Given the description of an element on the screen output the (x, y) to click on. 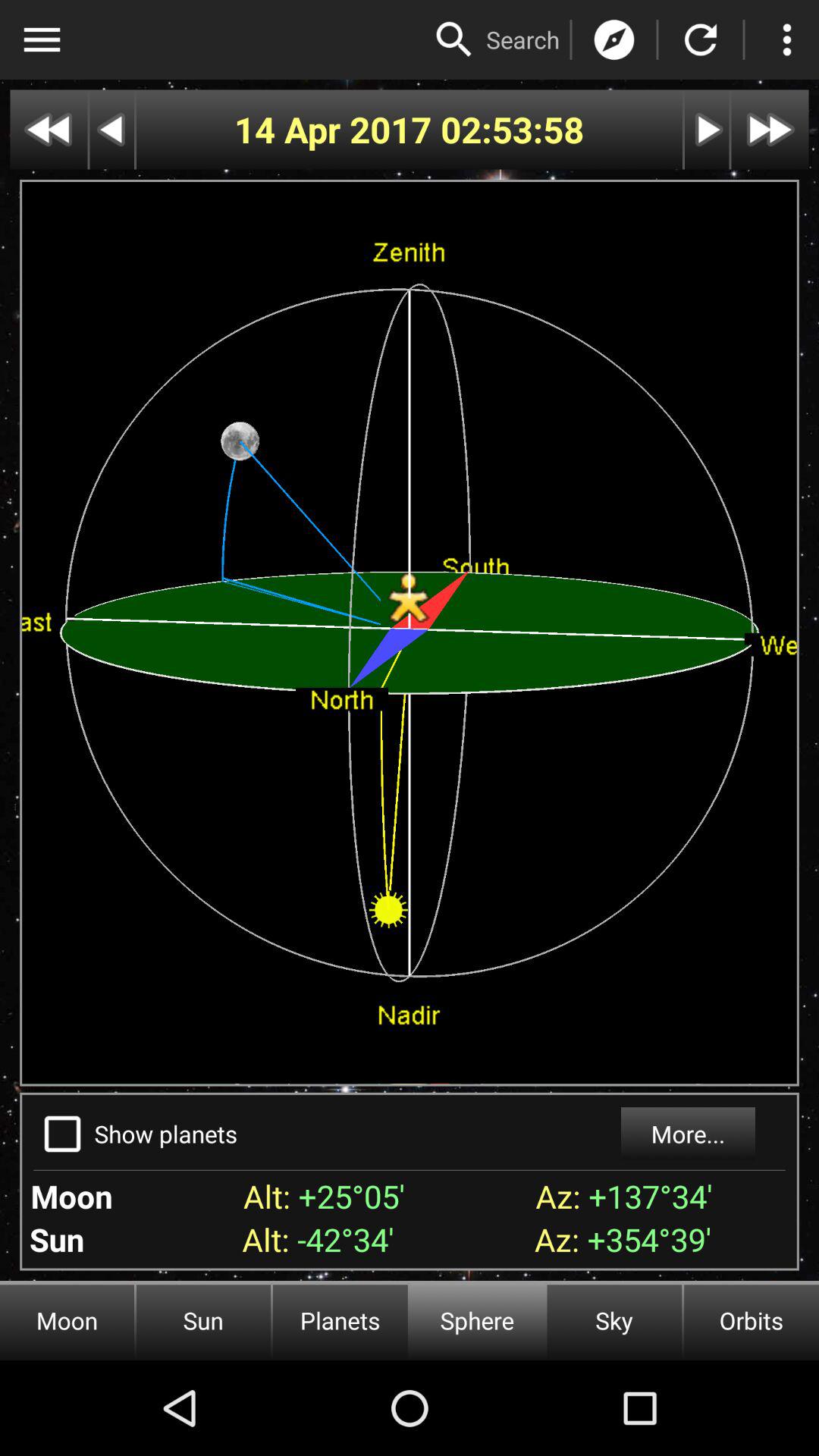
select the icon next to 14 apr 2017  item (512, 129)
